Given the description of an element on the screen output the (x, y) to click on. 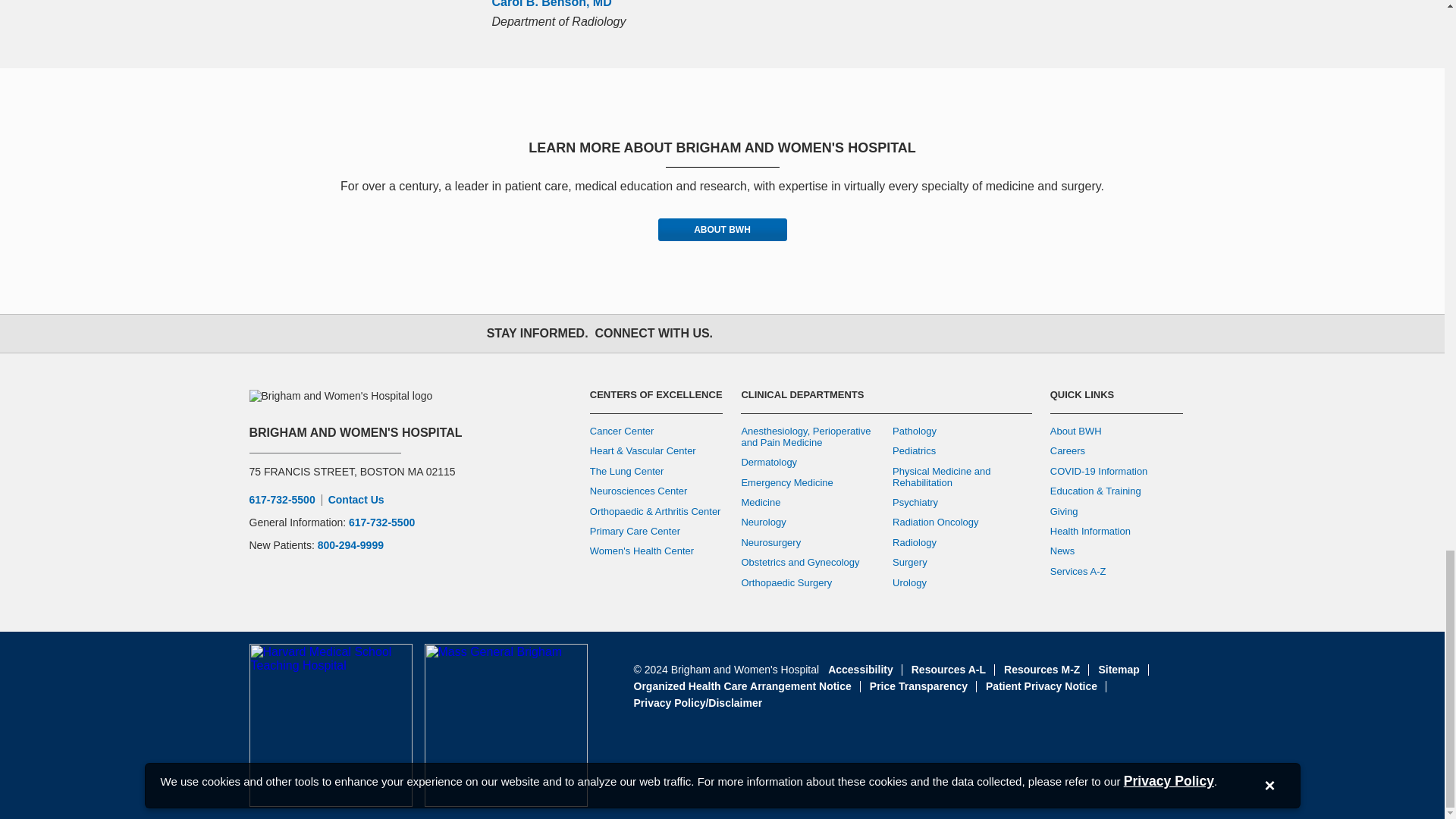
YouTube (838, 332)
Newsroom (905, 332)
Carol B. Benson, MD (551, 4)
LinkedIn (871, 332)
Instagram (804, 332)
Facebook (738, 332)
